Given the description of an element on the screen output the (x, y) to click on. 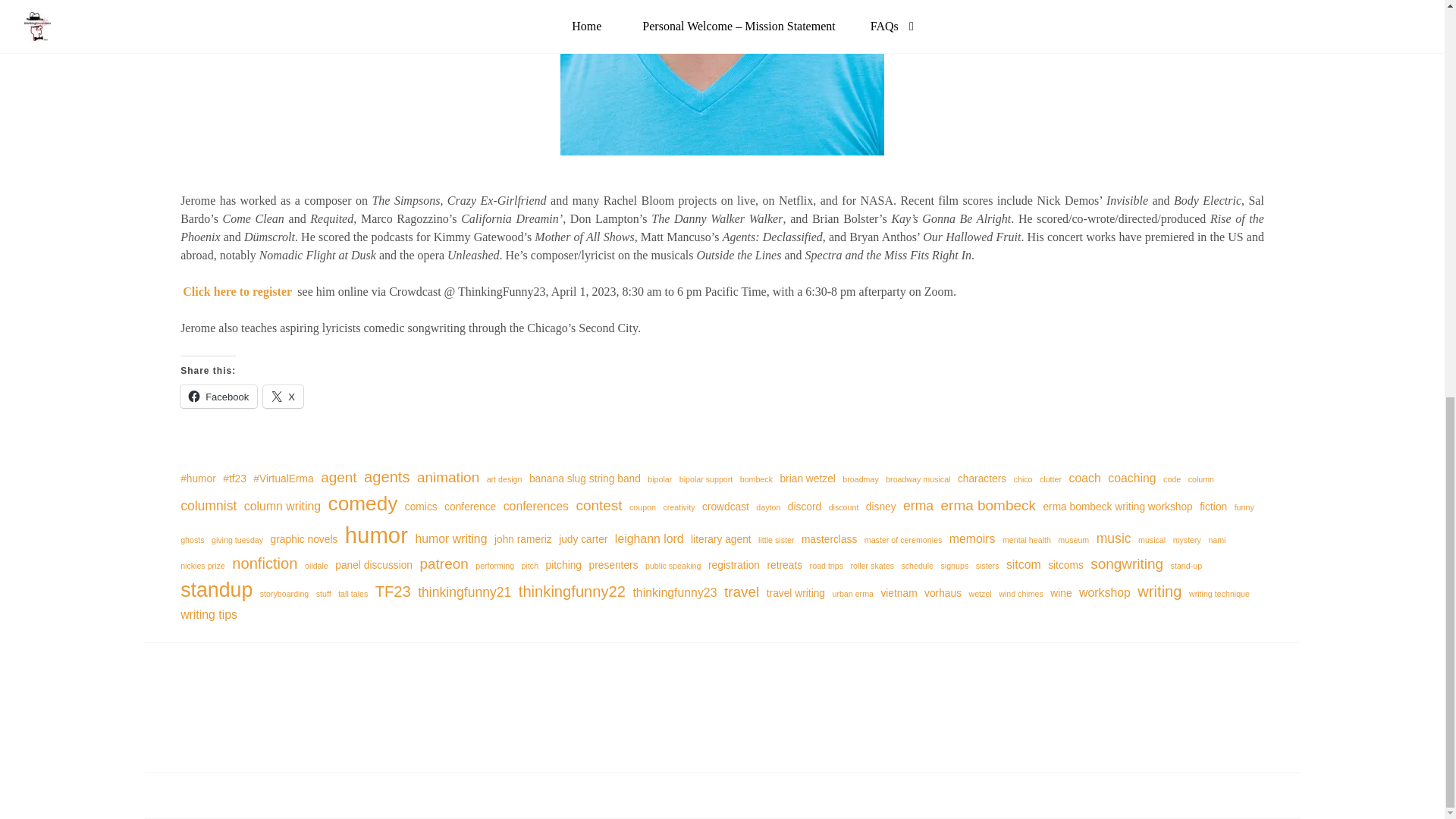
characters (982, 479)
brian wetzel (806, 479)
banana slug string band (584, 479)
chico (1022, 479)
Facebook (218, 395)
Click to share on X (282, 395)
agent (338, 477)
broadway musical (917, 479)
animation (447, 477)
bipolar (659, 479)
agents (387, 477)
broadmay (860, 479)
X (282, 395)
Click here to register (237, 291)
bipolar support (706, 479)
